Given the description of an element on the screen output the (x, y) to click on. 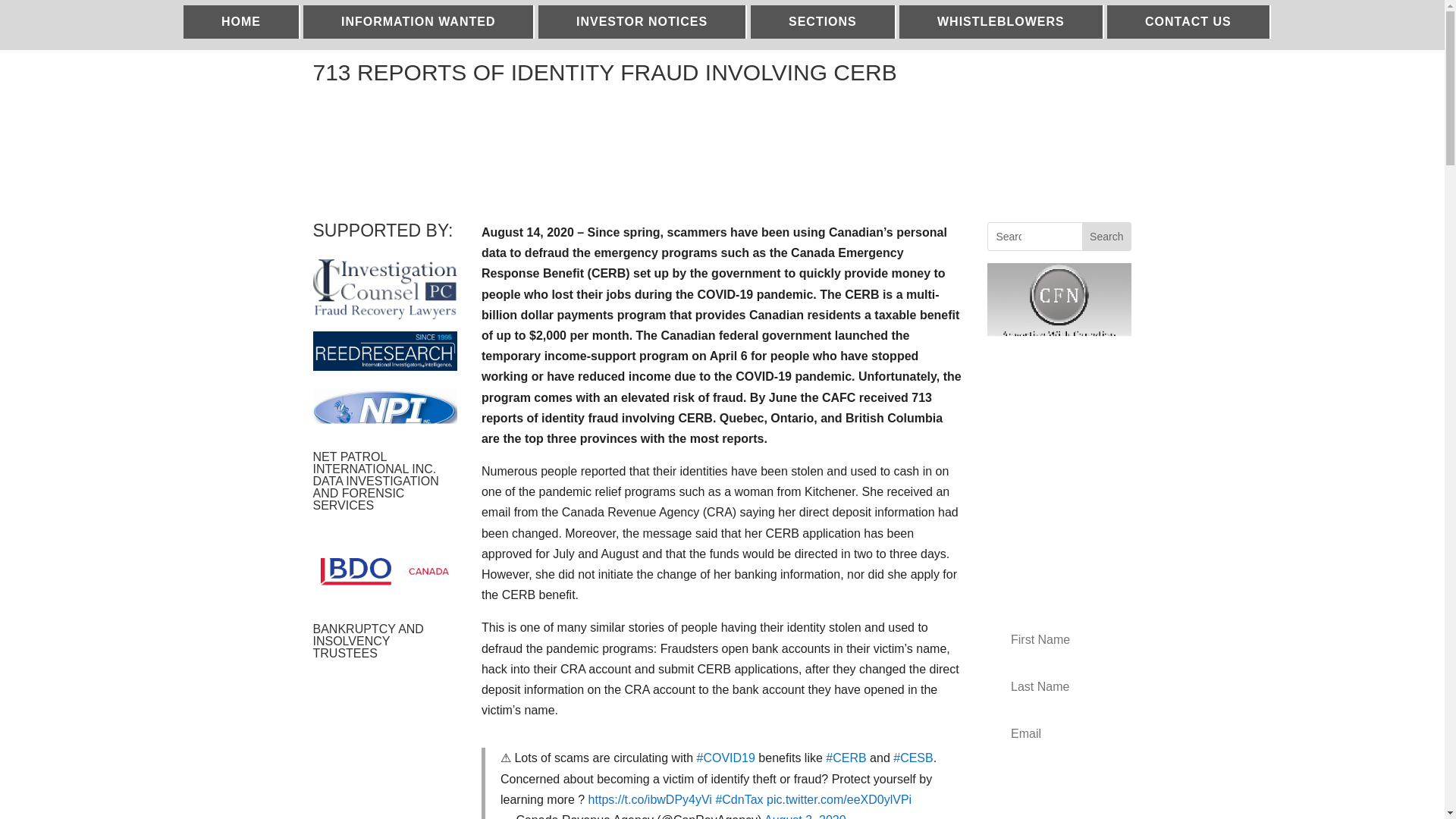
August 3, 2020 (804, 816)
SECTIONS (823, 21)
FRL (385, 289)
CONTACT US (1188, 21)
Tom (385, 411)
Search (1106, 236)
Search (1106, 236)
INFORMATION WANTED (418, 21)
reed (385, 351)
bdo (385, 570)
